Given the description of an element on the screen output the (x, y) to click on. 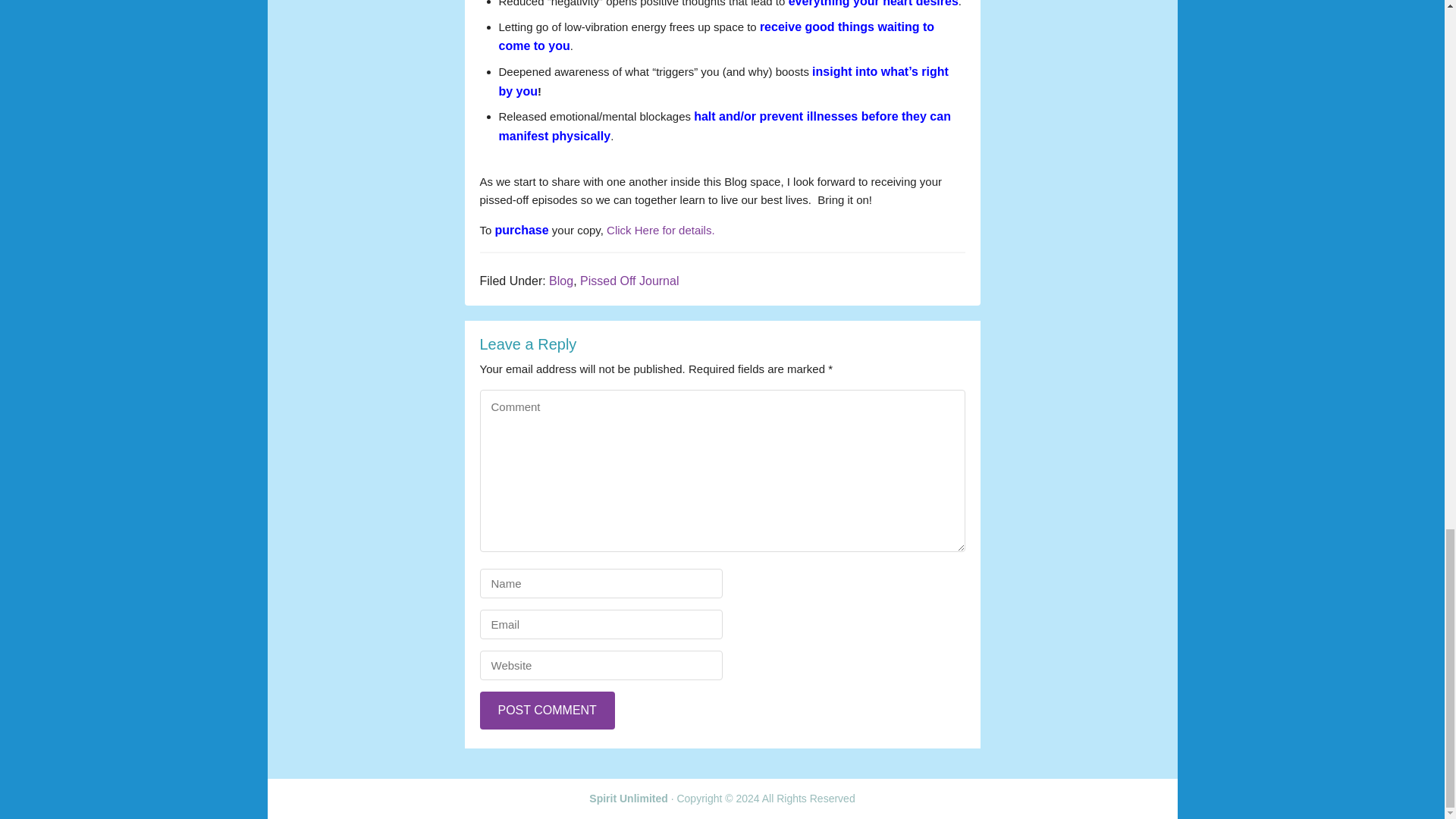
Post Comment (546, 710)
The Pissed-Off Journal (660, 229)
